Given the description of an element on the screen output the (x, y) to click on. 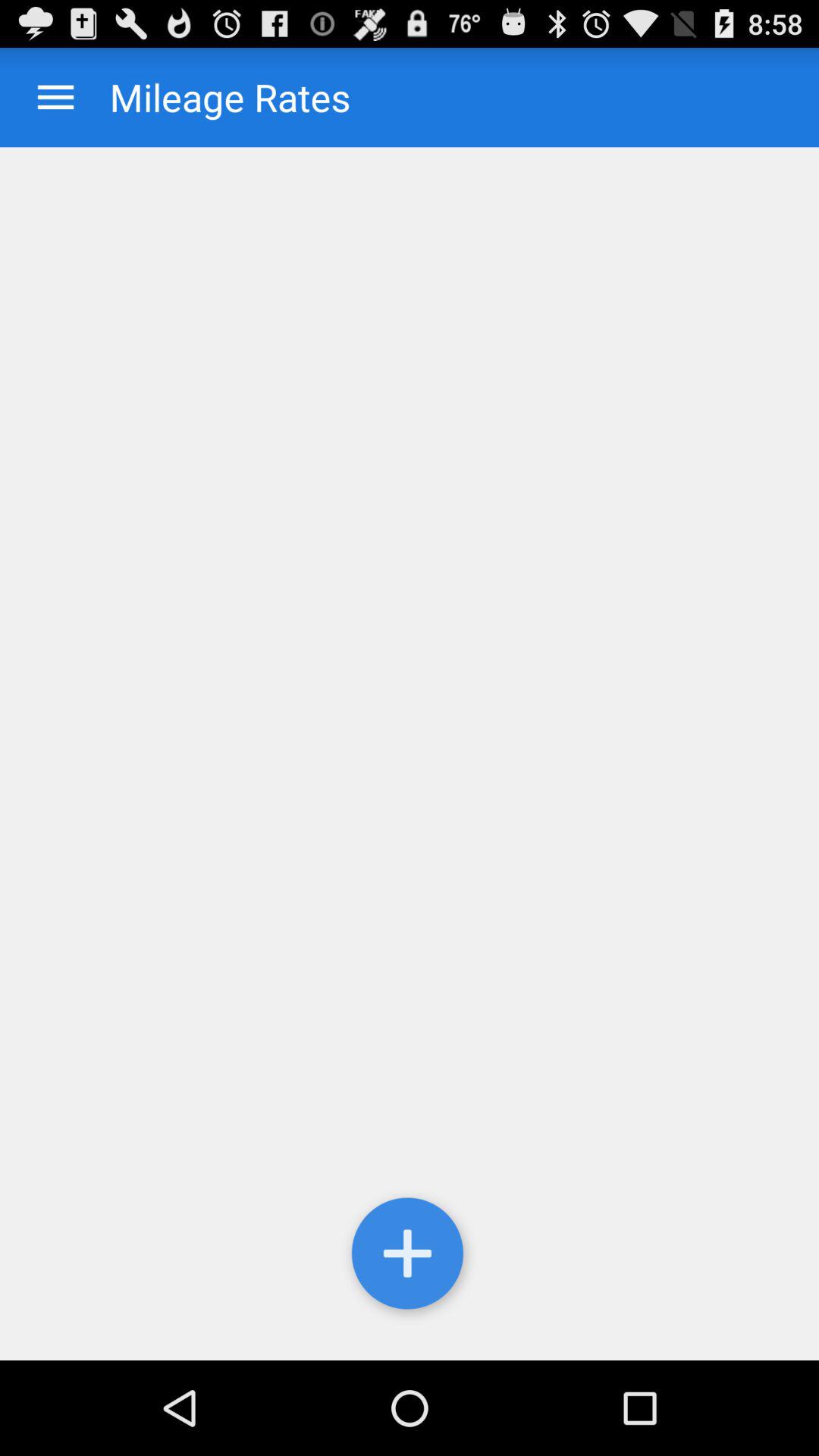
go to add (409, 1256)
